Given the description of an element on the screen output the (x, y) to click on. 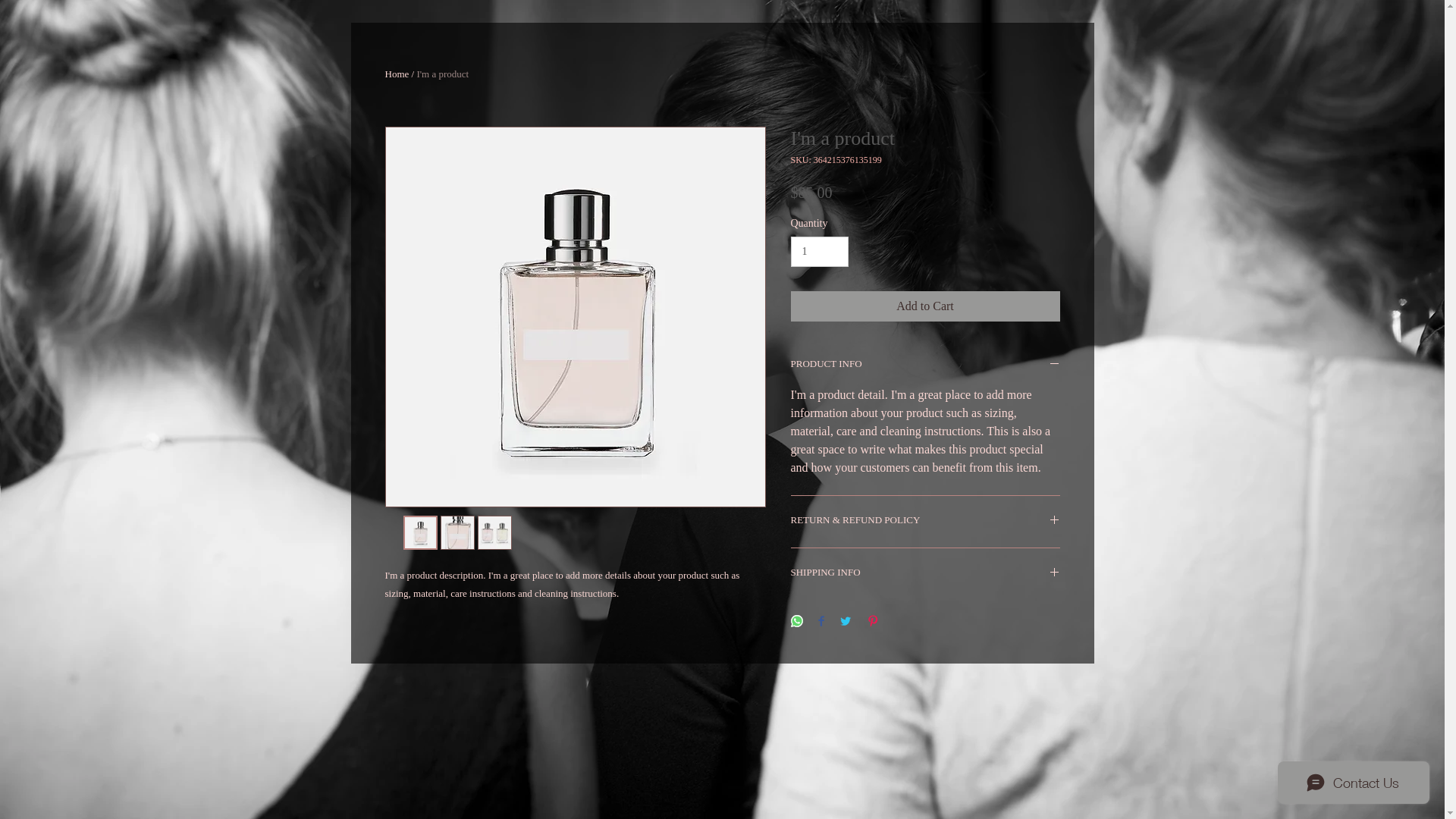
I'm a product Element type: text (442, 73)
PRODUCT INFO Element type: text (924, 365)
Add to Cart Element type: text (924, 306)
SHIPPING INFO Element type: text (924, 573)
RETURN & REFUND POLICY Element type: text (924, 521)
Home Element type: text (397, 73)
